Given the description of an element on the screen output the (x, y) to click on. 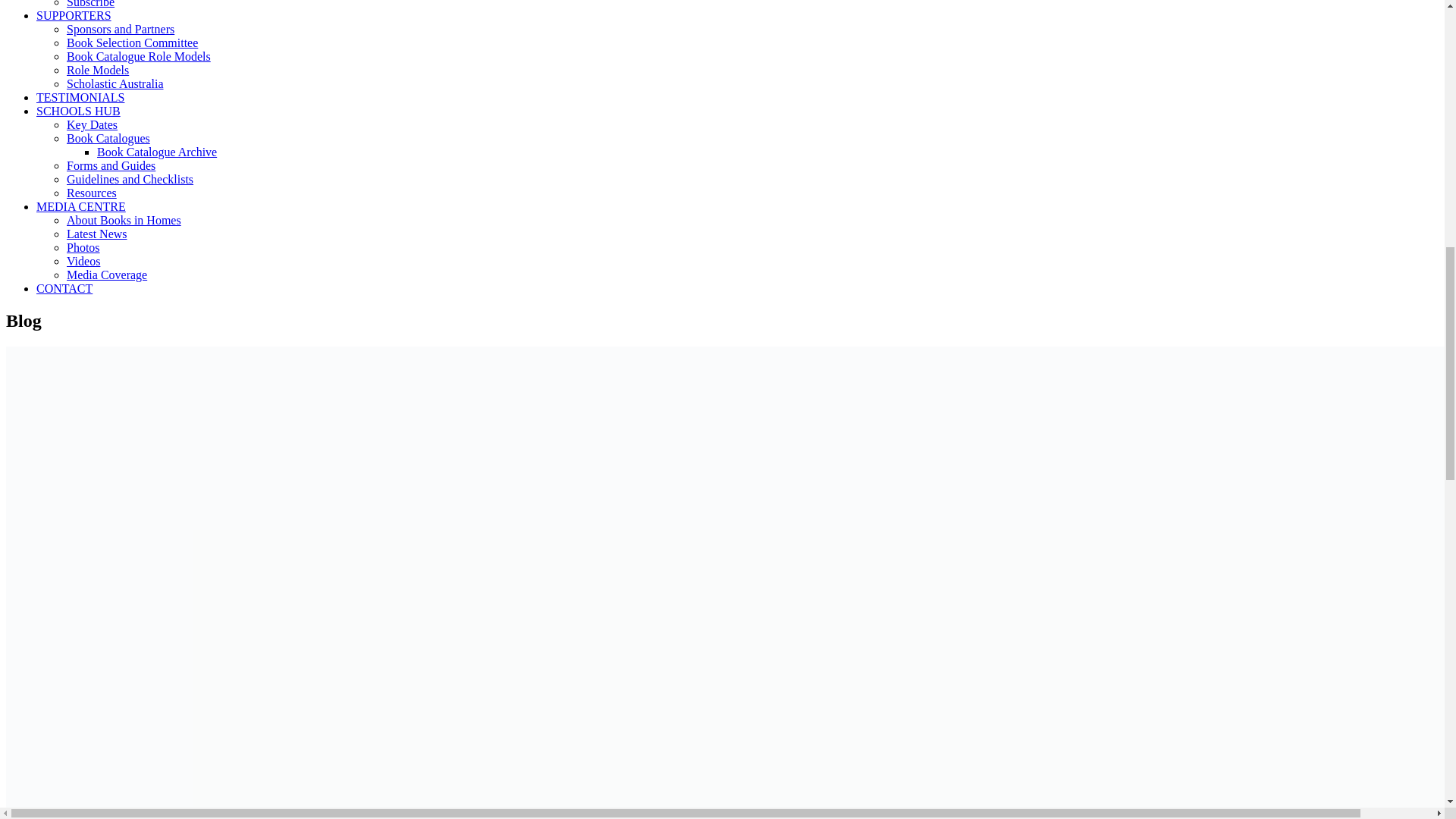
Book Catalogues (107, 137)
Guidelines and Checklists (129, 178)
TESTIMONIALS (79, 97)
Role Models (97, 69)
Book Selection Committee (132, 42)
Key Dates (91, 124)
SUPPORTERS (74, 15)
Resources (91, 192)
Forms and Guides (110, 164)
Sponsors and Partners (120, 29)
Book Catalogue Archive (156, 151)
Subscribe (90, 4)
SCHOOLS HUB (78, 110)
Scholastic Australia (114, 83)
Book Catalogue Role Models (138, 56)
